Given the description of an element on the screen output the (x, y) to click on. 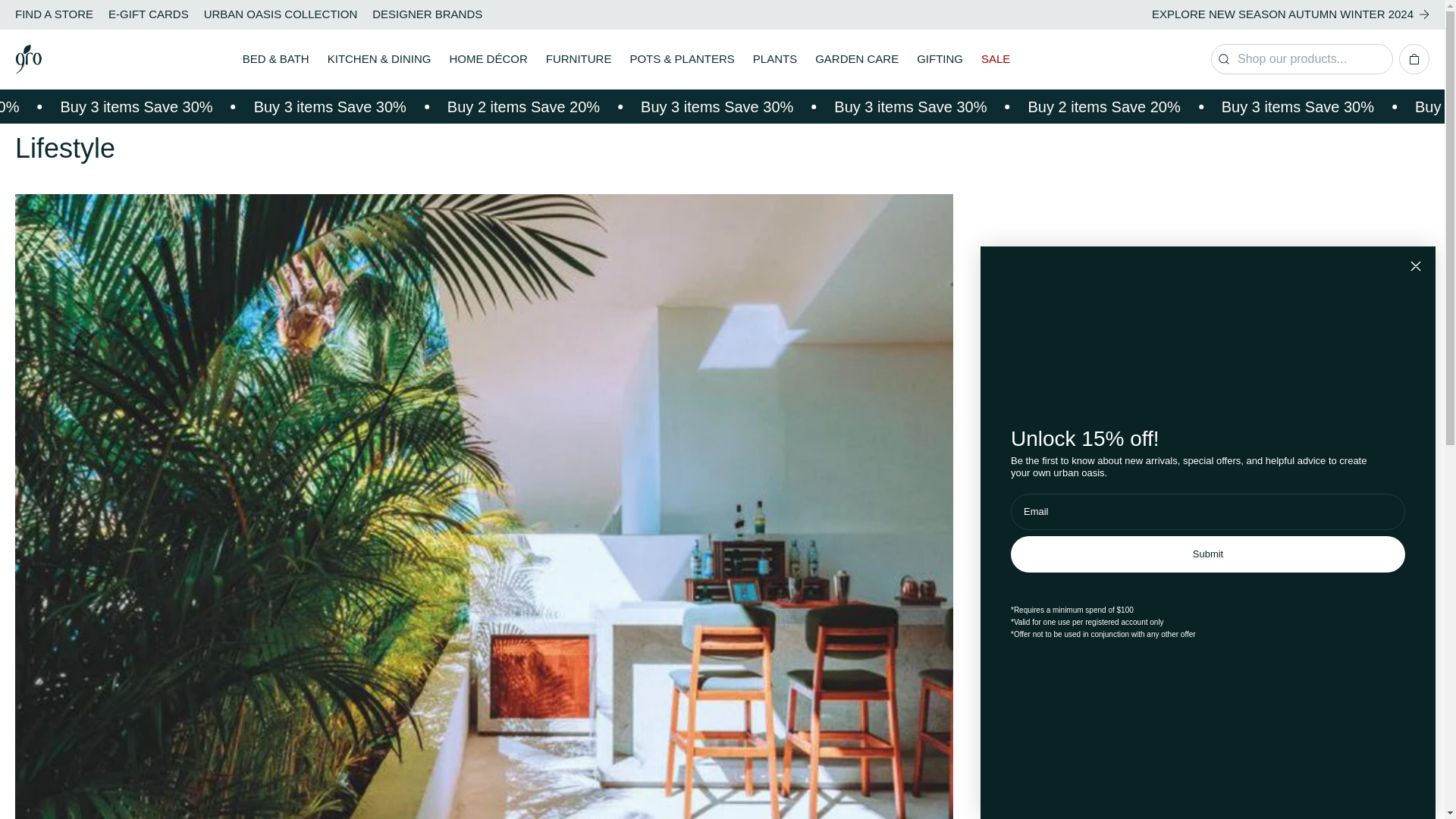
Cart button (1414, 59)
GIFTING (939, 58)
FIND A STORE (53, 14)
Close dialog 2 (1415, 265)
URBAN OASIS COLLECTION (280, 14)
SALE (995, 58)
PLANTS (774, 58)
EXPLORE NEW SEASON AUTUMN WINTER 2024 (1290, 14)
FURNITURE (578, 58)
GARDEN CARE (856, 58)
E-GIFT CARDS (148, 14)
DESIGNER BRANDS (426, 14)
